Given the description of an element on the screen output the (x, y) to click on. 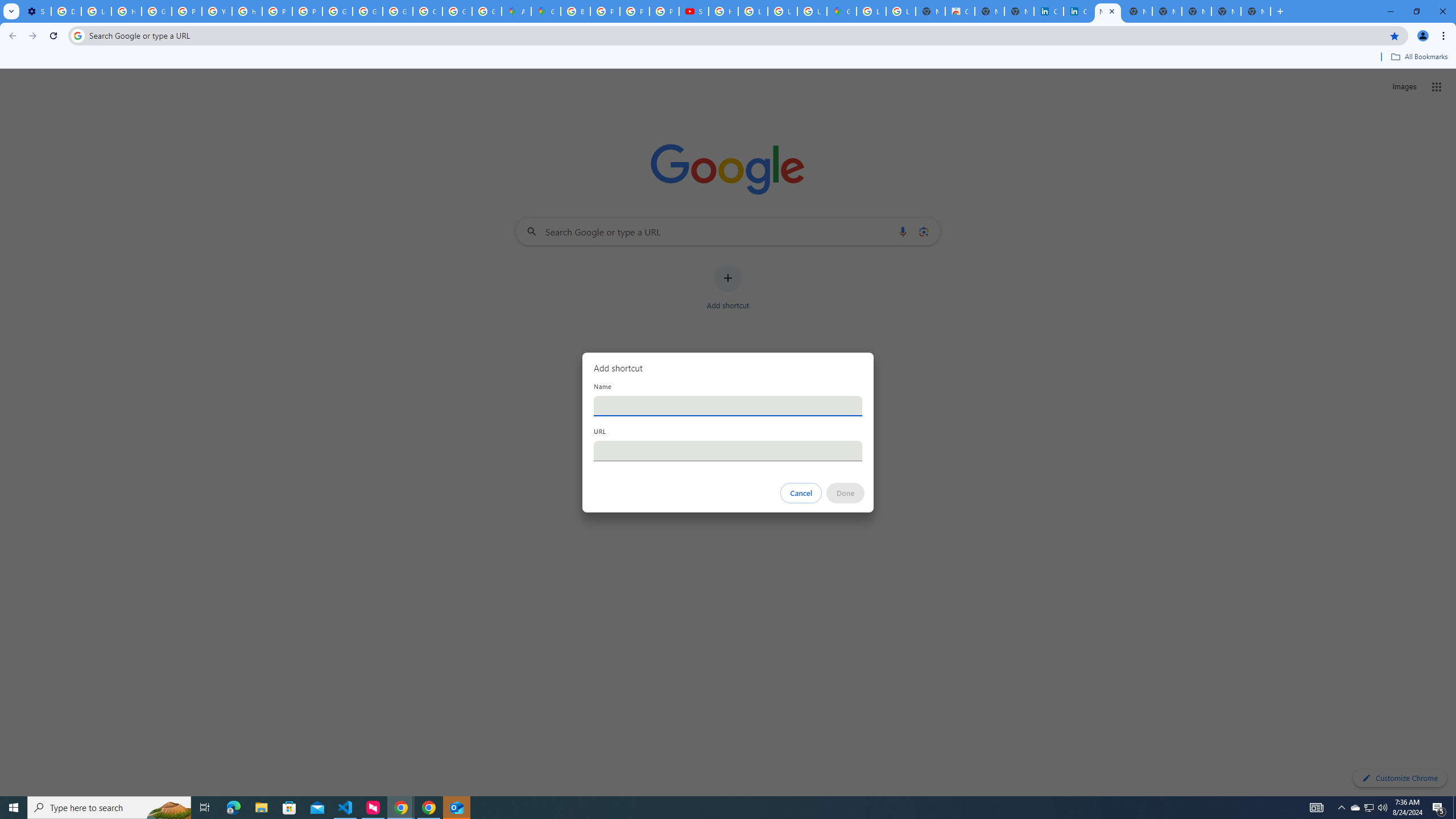
YouTube (216, 11)
Blogger Policies and Guidelines - Transparency Center (575, 11)
Name (727, 405)
Done (845, 493)
How Chrome protects your passwords - Google Chrome Help (723, 11)
Cancel (801, 493)
